Given the description of an element on the screen output the (x, y) to click on. 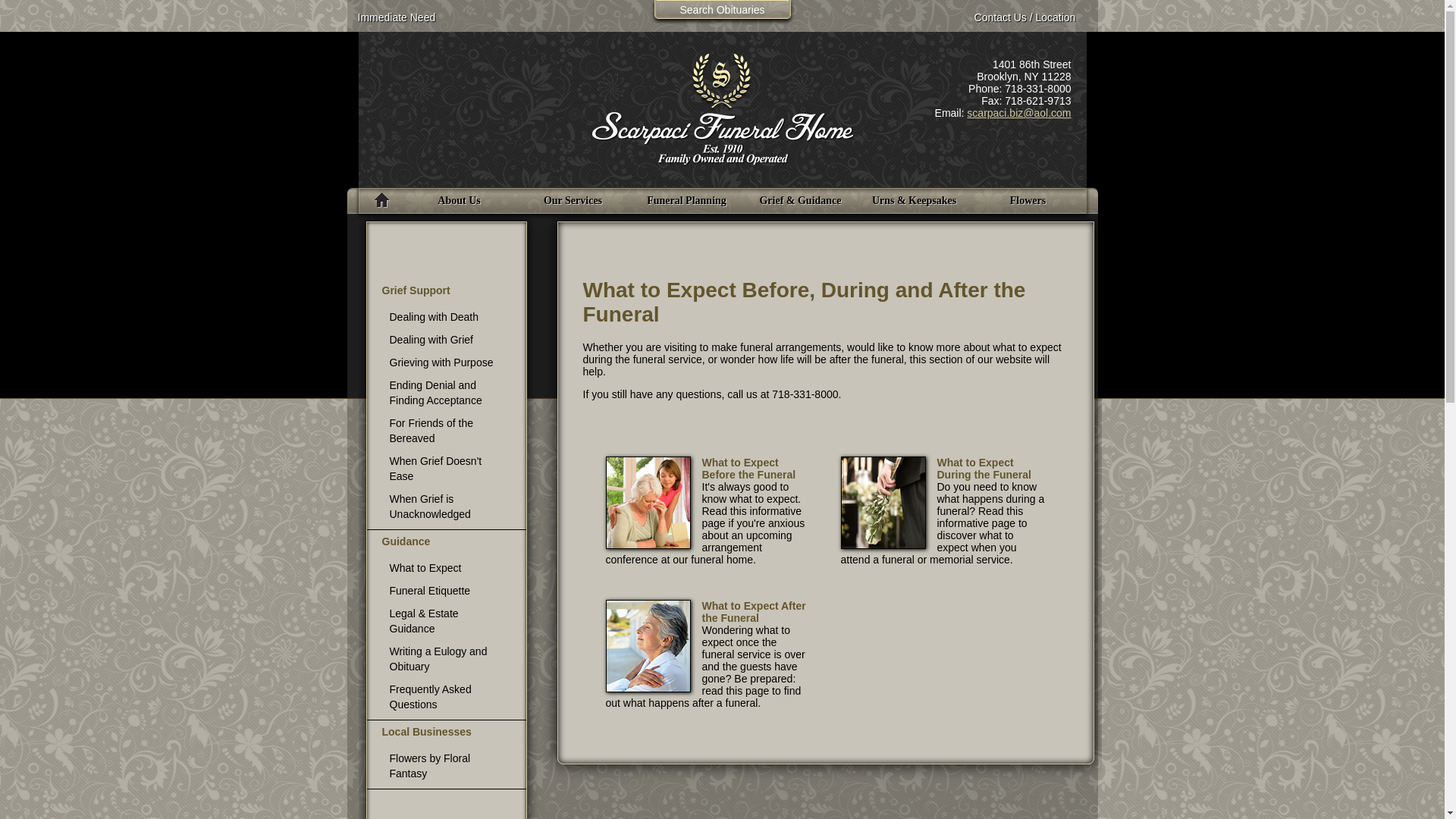
Home (379, 200)
About Us (458, 200)
